Given the description of an element on the screen output the (x, y) to click on. 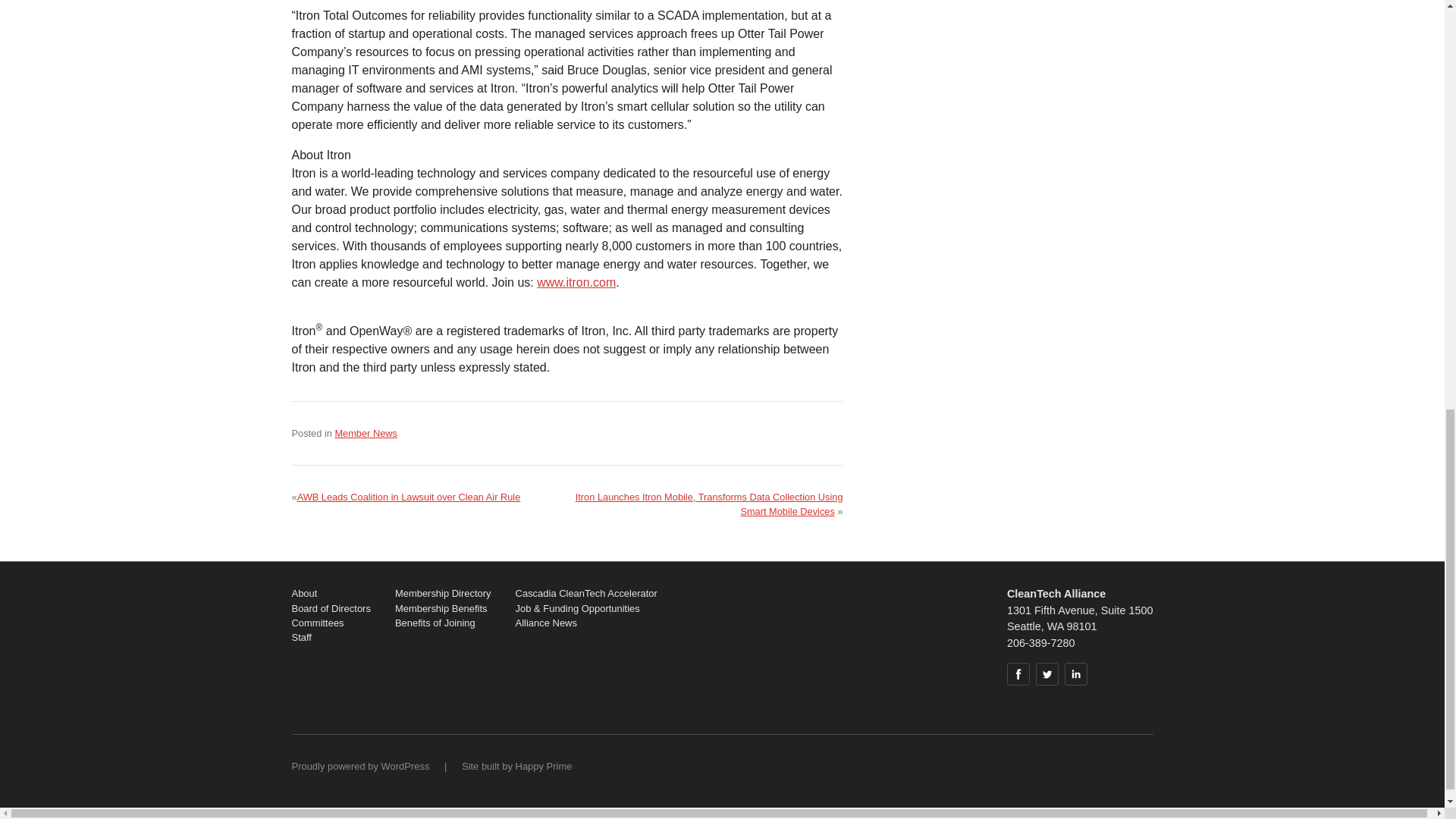
Visit CleanTech Alliance on Twitter (1046, 673)
Vist CleanTech Alliance on LinkedIn (1075, 673)
Visit CleanTech Alliance on Facebook (1018, 673)
